Given the description of an element on the screen output the (x, y) to click on. 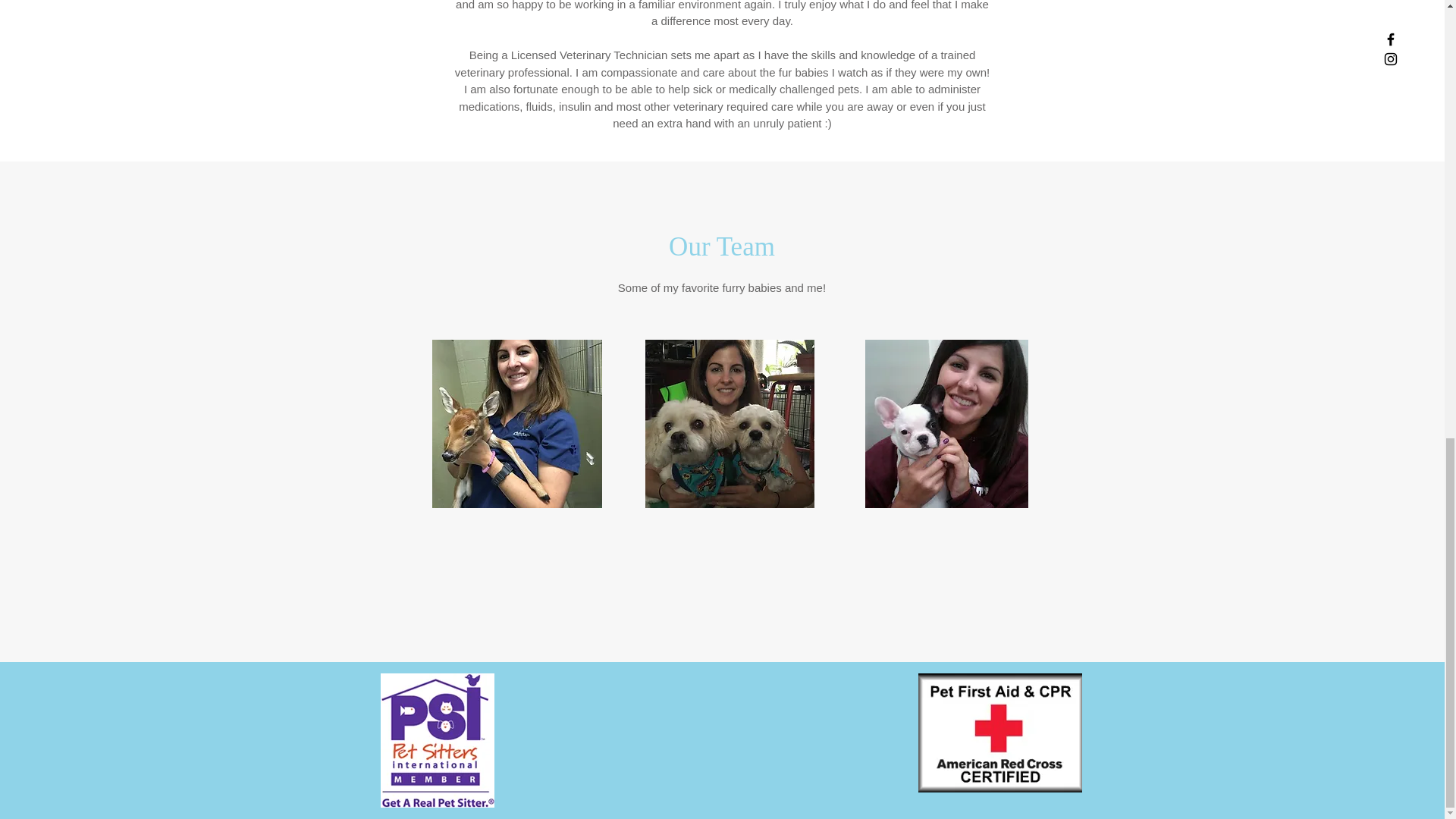
Untitled (729, 423)
Untitled (517, 423)
Untitled (945, 423)
